Given the description of an element on the screen output the (x, y) to click on. 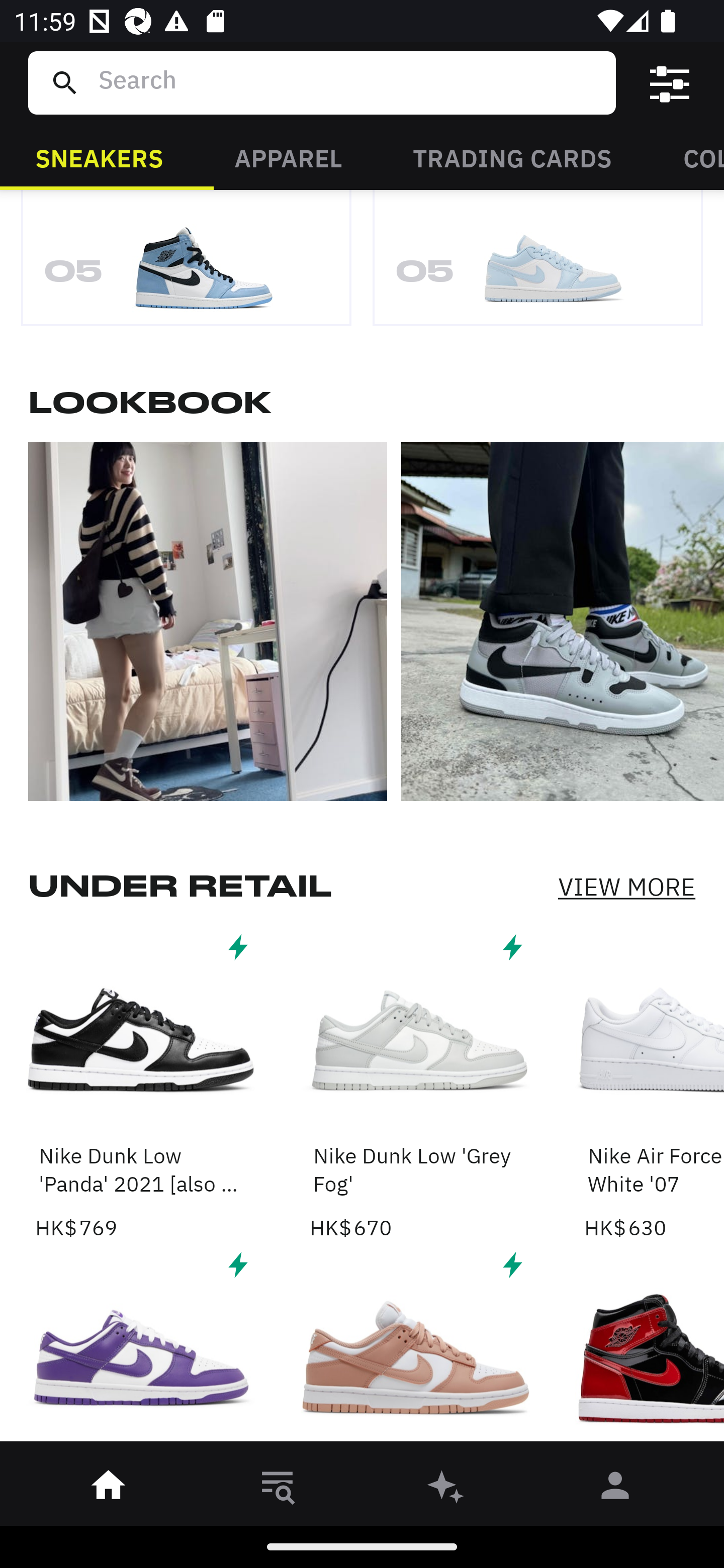
Search (349, 82)
 (669, 82)
SNEAKERS (99, 156)
APPAREL (287, 156)
TRADING CARDS (512, 156)
05 (186, 267)
05 (538, 267)
VIEW MORE (626, 887)
 Nike Dunk Low 'Grey Fog' HK$ 670 (414, 1085)
Nike Air Force 1 Low White '07 HK$ 630 (654, 1085)
 (140, 1347)
 (414, 1347)
󰋜 (108, 1488)
󱎸 (277, 1488)
󰫢 (446, 1488)
󰀄 (615, 1488)
